Given the description of an element on the screen output the (x, y) to click on. 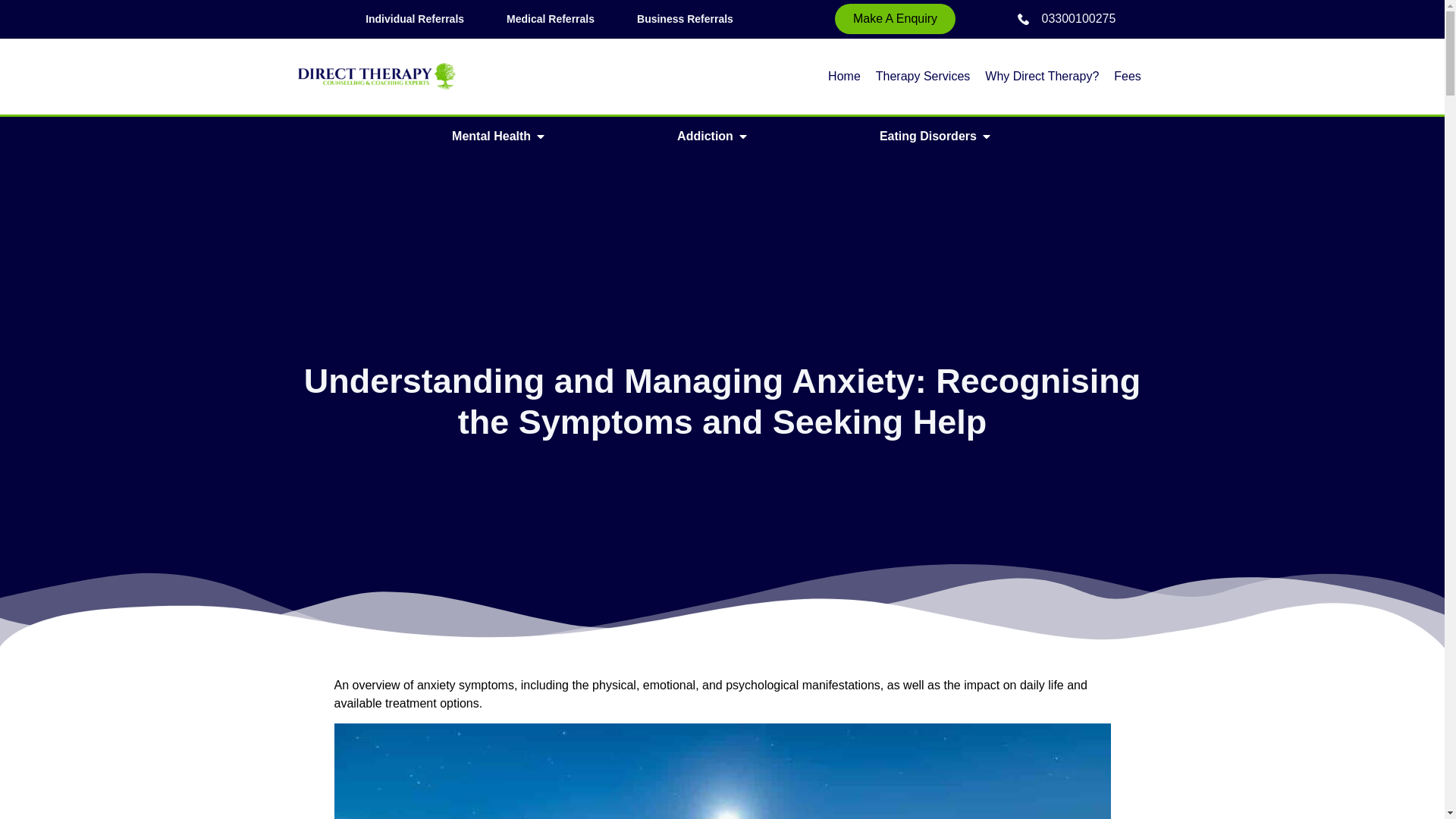
03300100275 (1066, 18)
Medical Referrals (551, 19)
Fees (1127, 76)
Make A Enquiry (894, 19)
Business Referrals (684, 19)
Individual Referrals (414, 19)
Therapy Services (923, 76)
Home (844, 76)
Why Direct Therapy? (1042, 76)
